Given the description of an element on the screen output the (x, y) to click on. 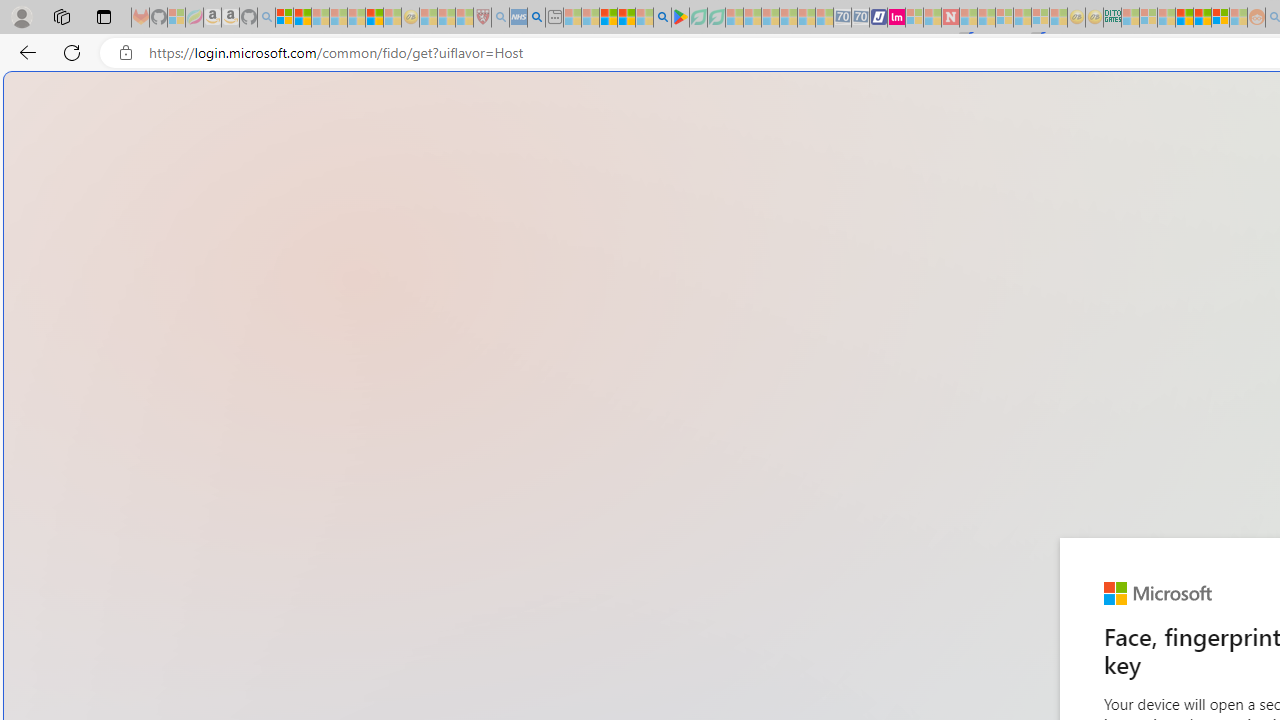
Microsoft (1157, 593)
Latest Politics News & Archive | Newsweek.com - Sleeping (950, 17)
DITOGAMES AG Imprint (1112, 17)
